Given the description of an element on the screen output the (x, y) to click on. 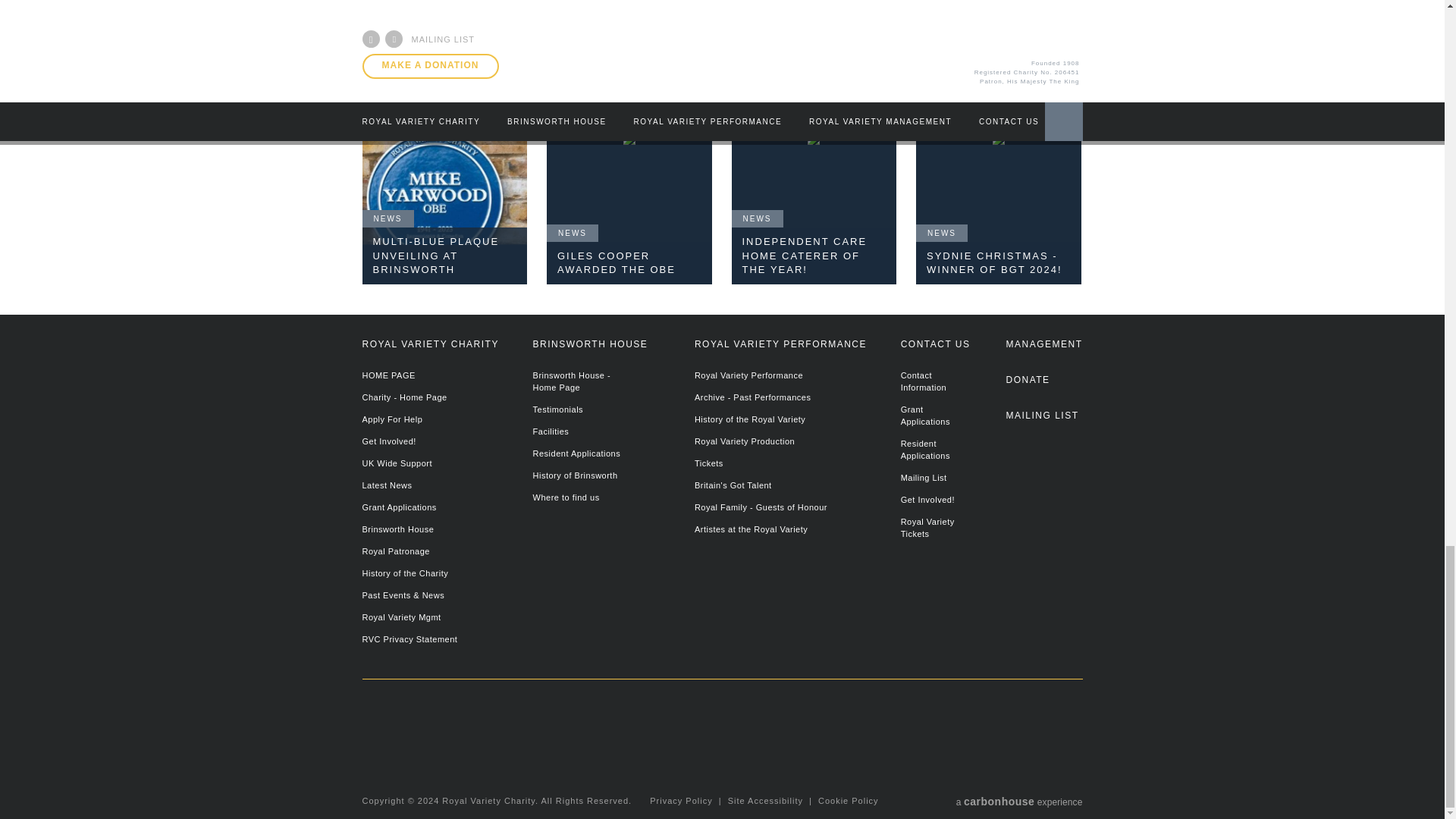
Royal Variety Charity (472, 736)
Brinsworth House (748, 751)
Donate (1043, 386)
a carbonhouse experience (1019, 800)
Royal Variety Management (1043, 351)
Mailing List (1043, 422)
Royal Variety Performance (998, 736)
